Given the description of an element on the screen output the (x, y) to click on. 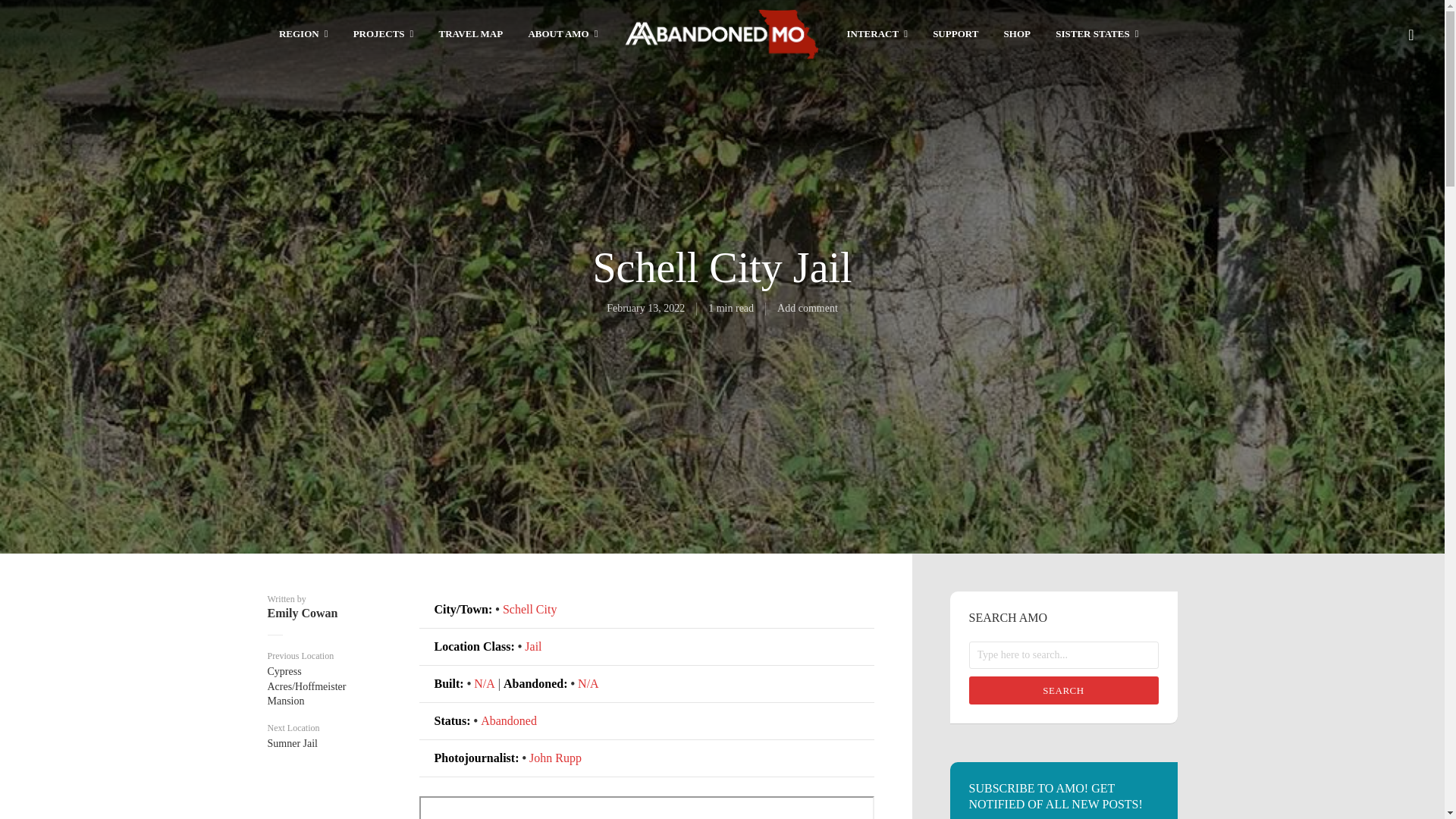
Add comment (807, 307)
SISTER STATES (1096, 34)
SUPPORT (955, 34)
PROJECTS (383, 34)
ABOUT AMO (561, 34)
TRAVEL MAP (471, 34)
INTERACT (876, 34)
REGION (303, 34)
